Given the description of an element on the screen output the (x, y) to click on. 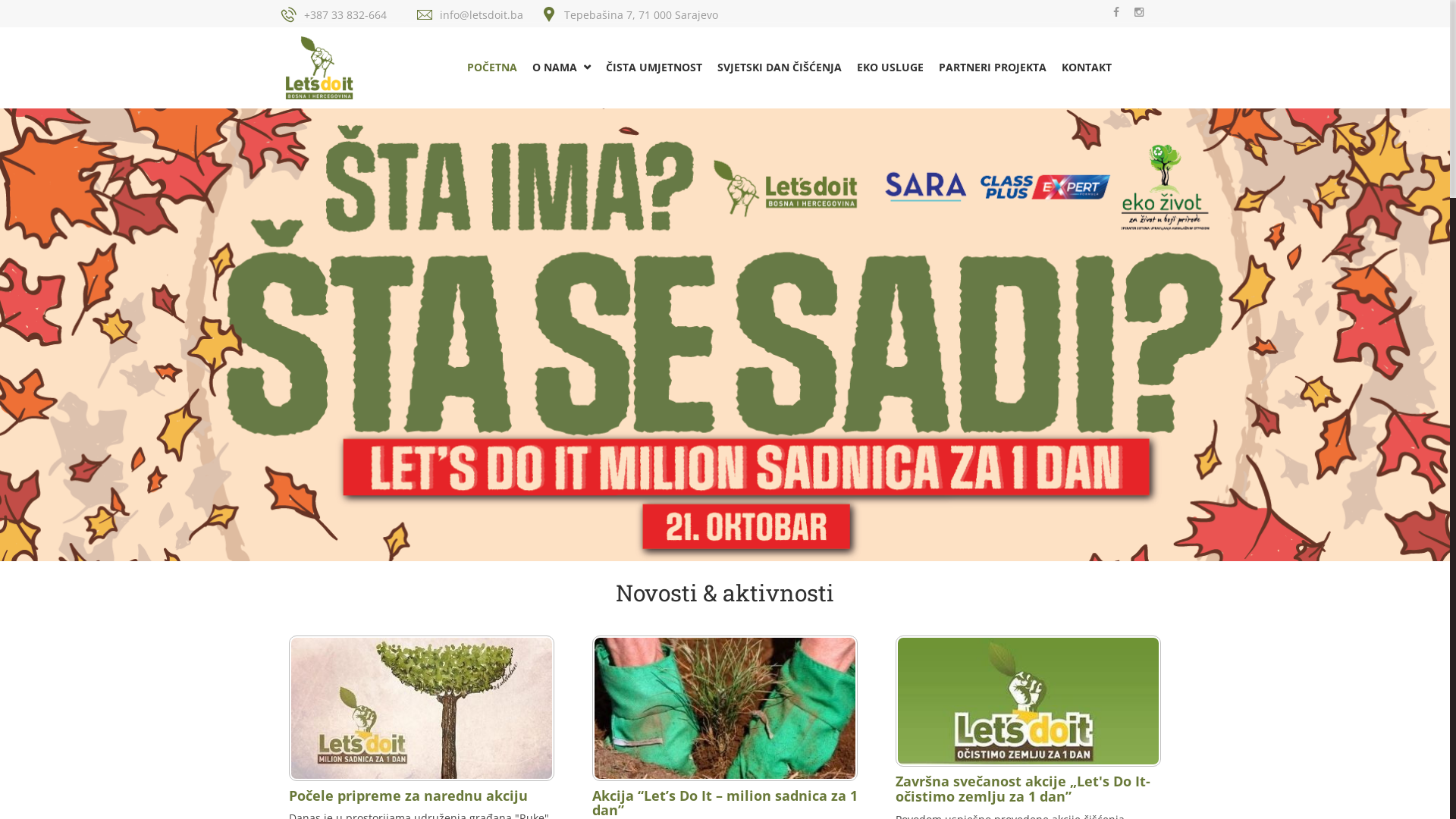
KONTAKT Element type: text (1086, 67)
PARTNERI PROJEKTA Element type: text (992, 67)
EKO USLUGE Element type: text (890, 67)
